Given the description of an element on the screen output the (x, y) to click on. 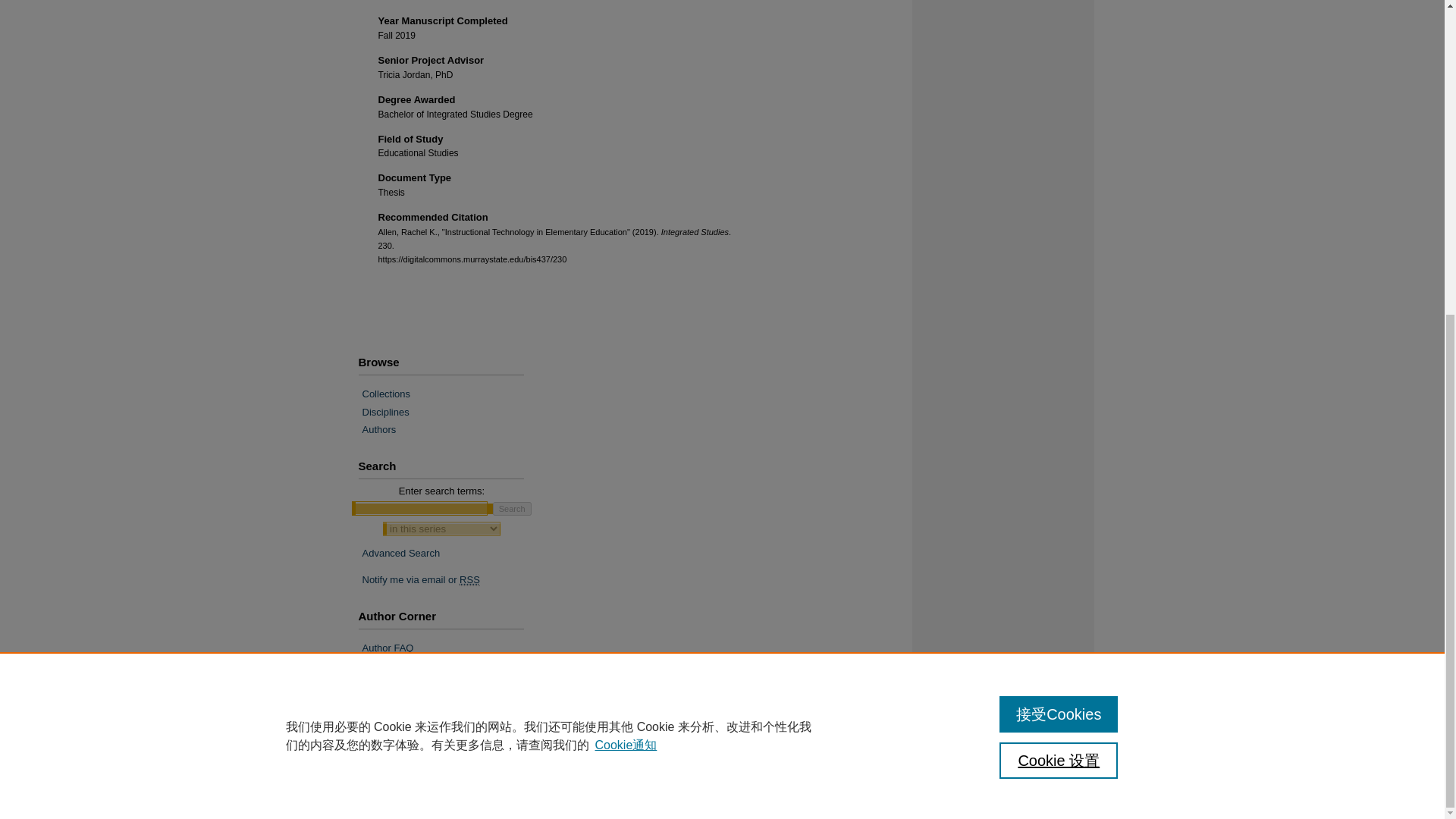
Authors (447, 429)
Search (512, 508)
Search (512, 508)
Author FAQ (447, 648)
Submit Senior Project (447, 666)
Collections (447, 394)
Browse by Disciplines (447, 412)
Email or RSS Notifications (447, 580)
Browse by Collections (447, 394)
Notify me via email or RSS (447, 580)
Browse by Author (447, 429)
Disciplines (447, 412)
Search (512, 508)
Advanced Search (401, 552)
